Given the description of an element on the screen output the (x, y) to click on. 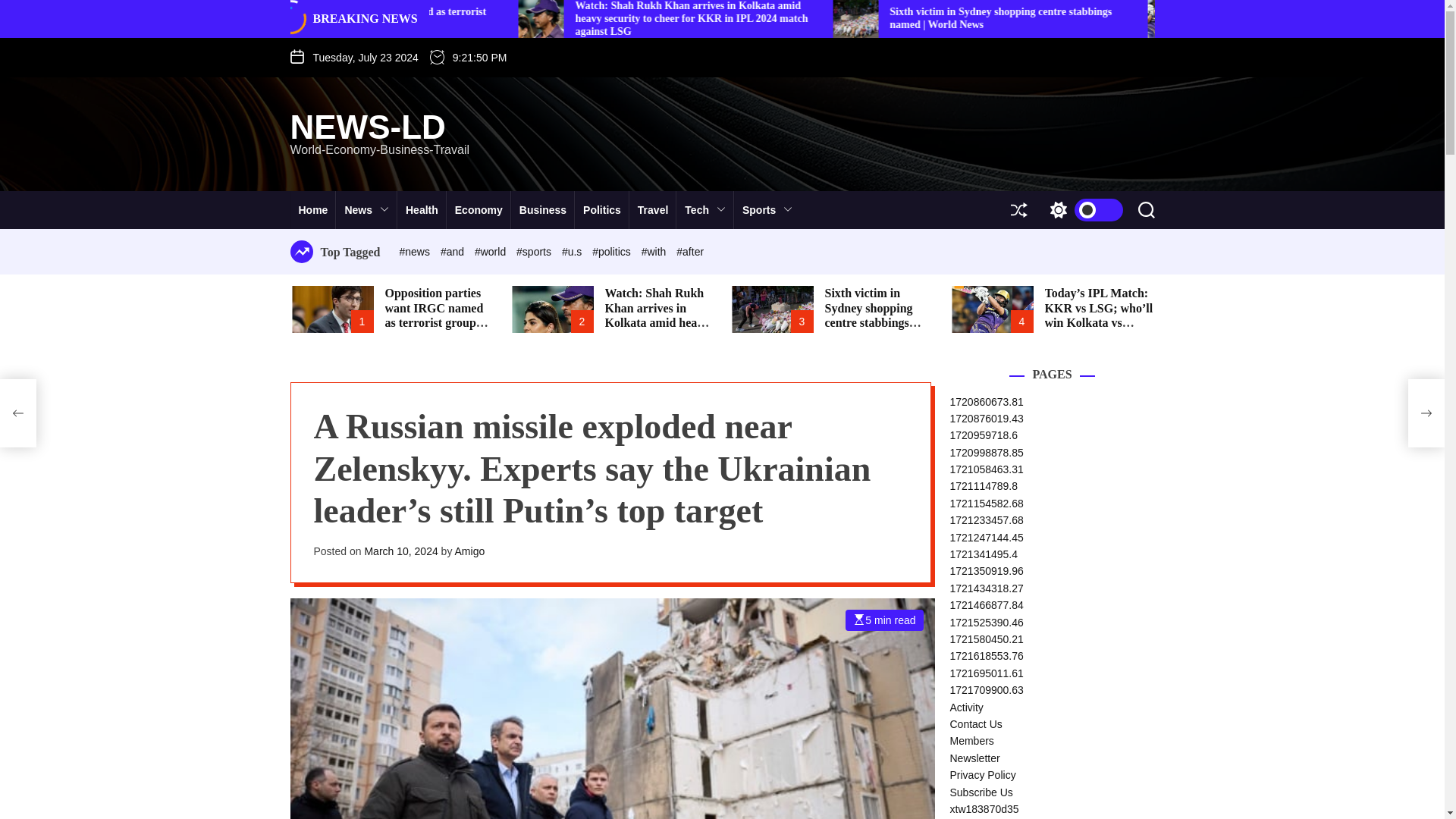
NEWS-LD (378, 127)
Home (312, 209)
News (366, 209)
